Given the description of an element on the screen output the (x, y) to click on. 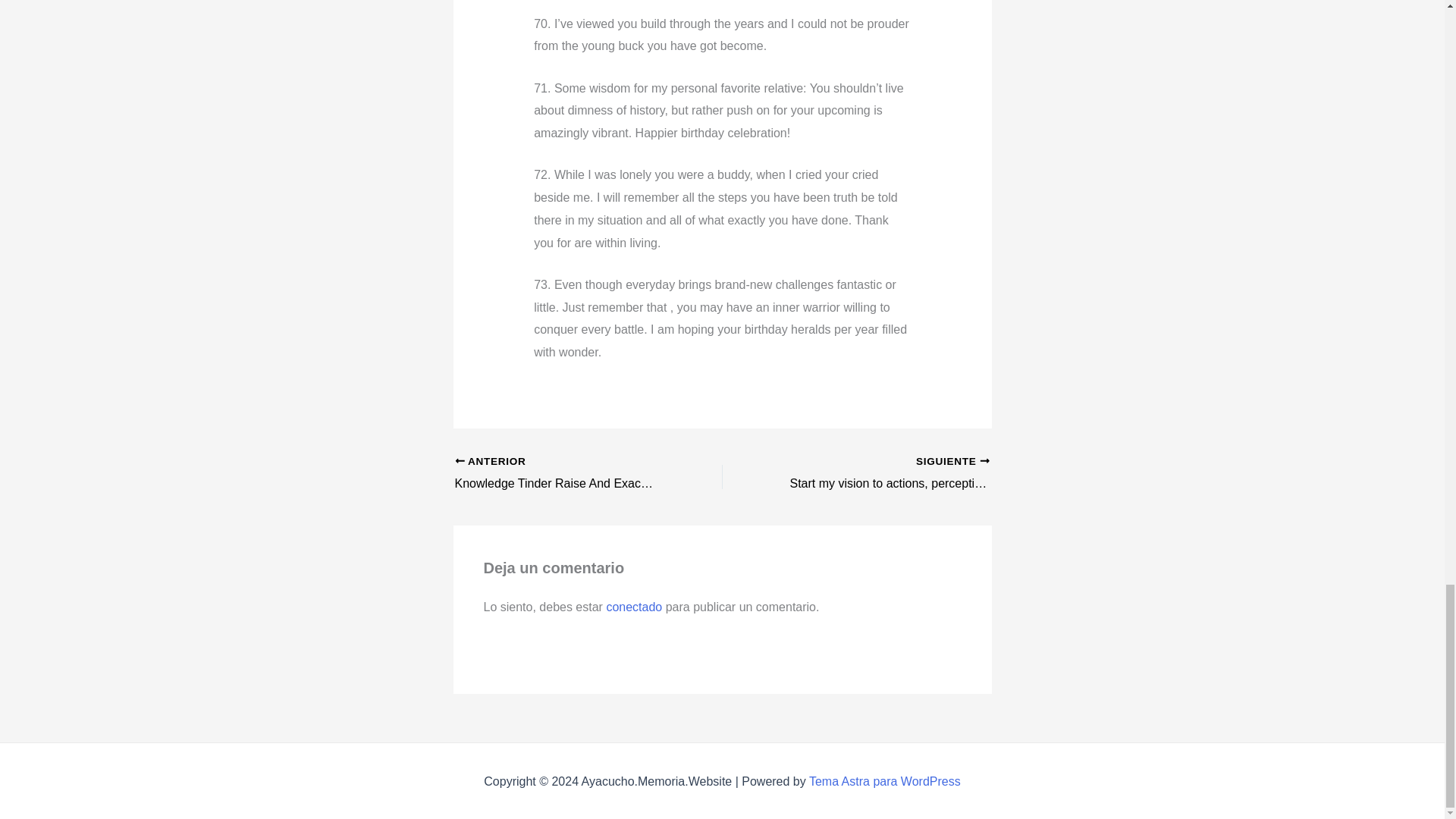
conectado (633, 606)
